Given the description of an element on the screen output the (x, y) to click on. 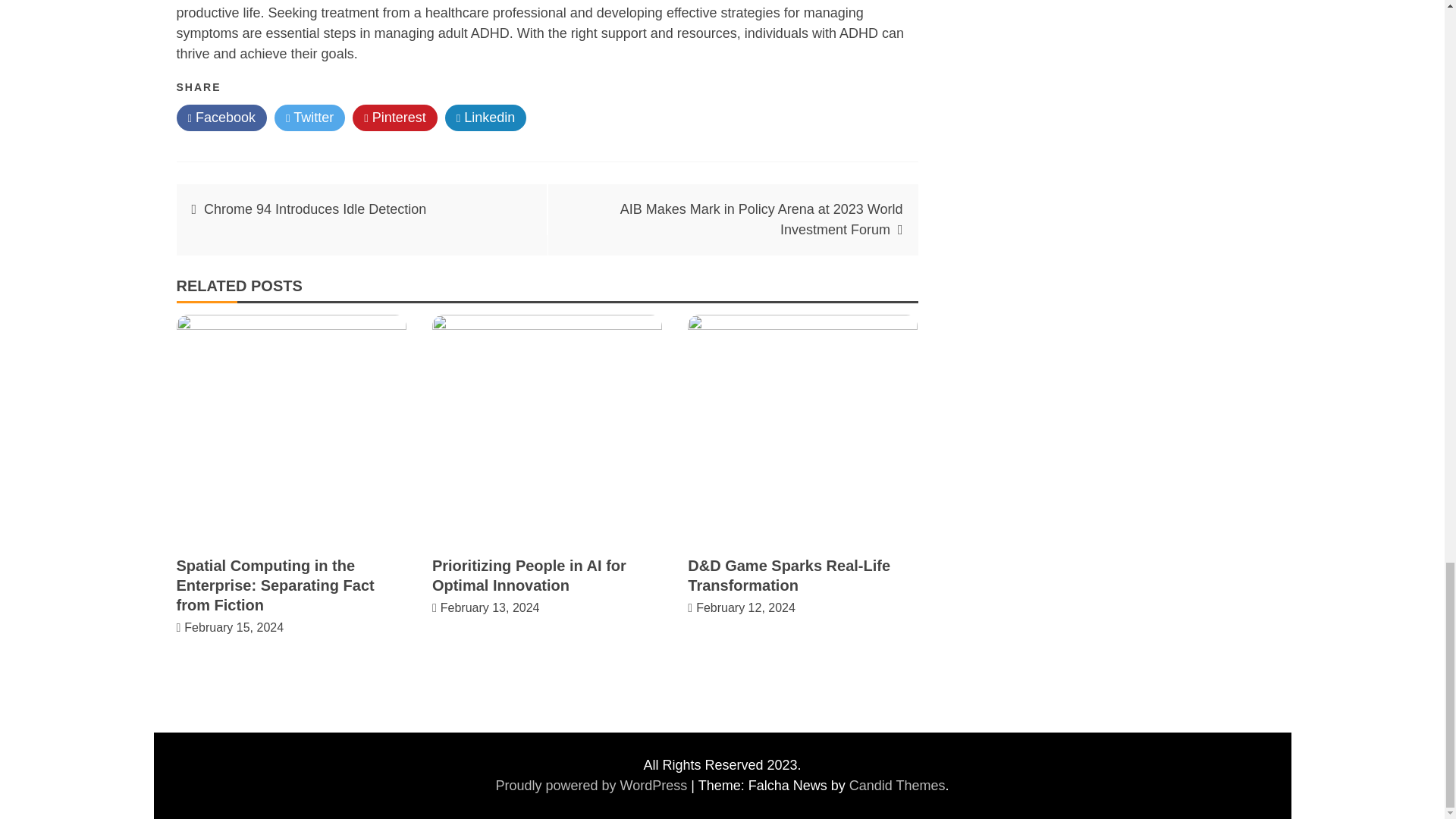
February 13, 2024 (490, 607)
Prioritizing People in AI for Optimal Innovation (529, 575)
February 15, 2024 (233, 626)
Facebook (221, 117)
February 12, 2024 (744, 607)
Twitter (310, 117)
Linkedin (486, 117)
Chrome 94 Introduces Idle Detection (314, 209)
